Given the description of an element on the screen output the (x, y) to click on. 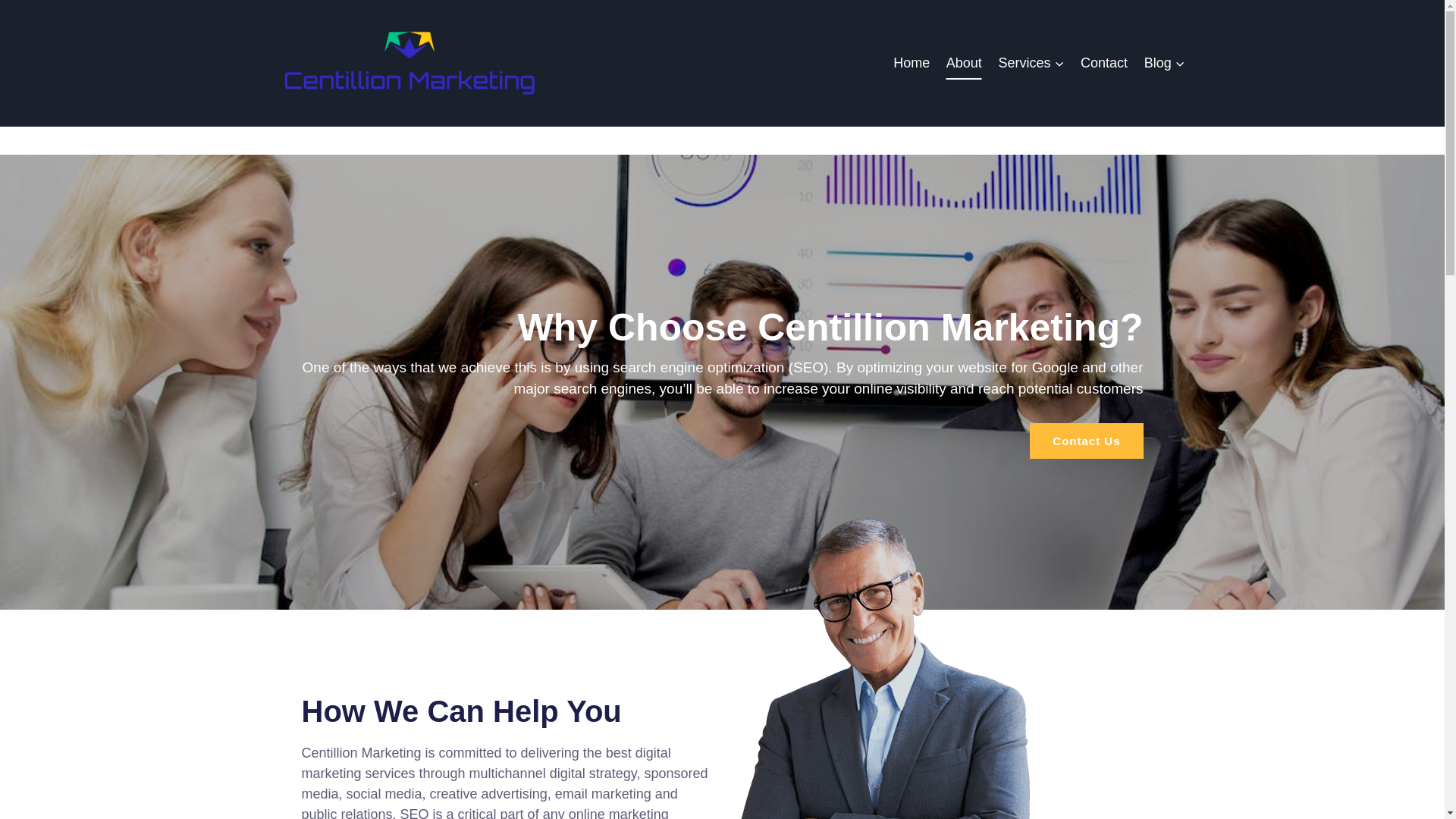
Blog (1164, 62)
Services (1031, 62)
About (963, 62)
Contact Us (1085, 440)
Home (911, 62)
Contact (1103, 62)
